Given the description of an element on the screen output the (x, y) to click on. 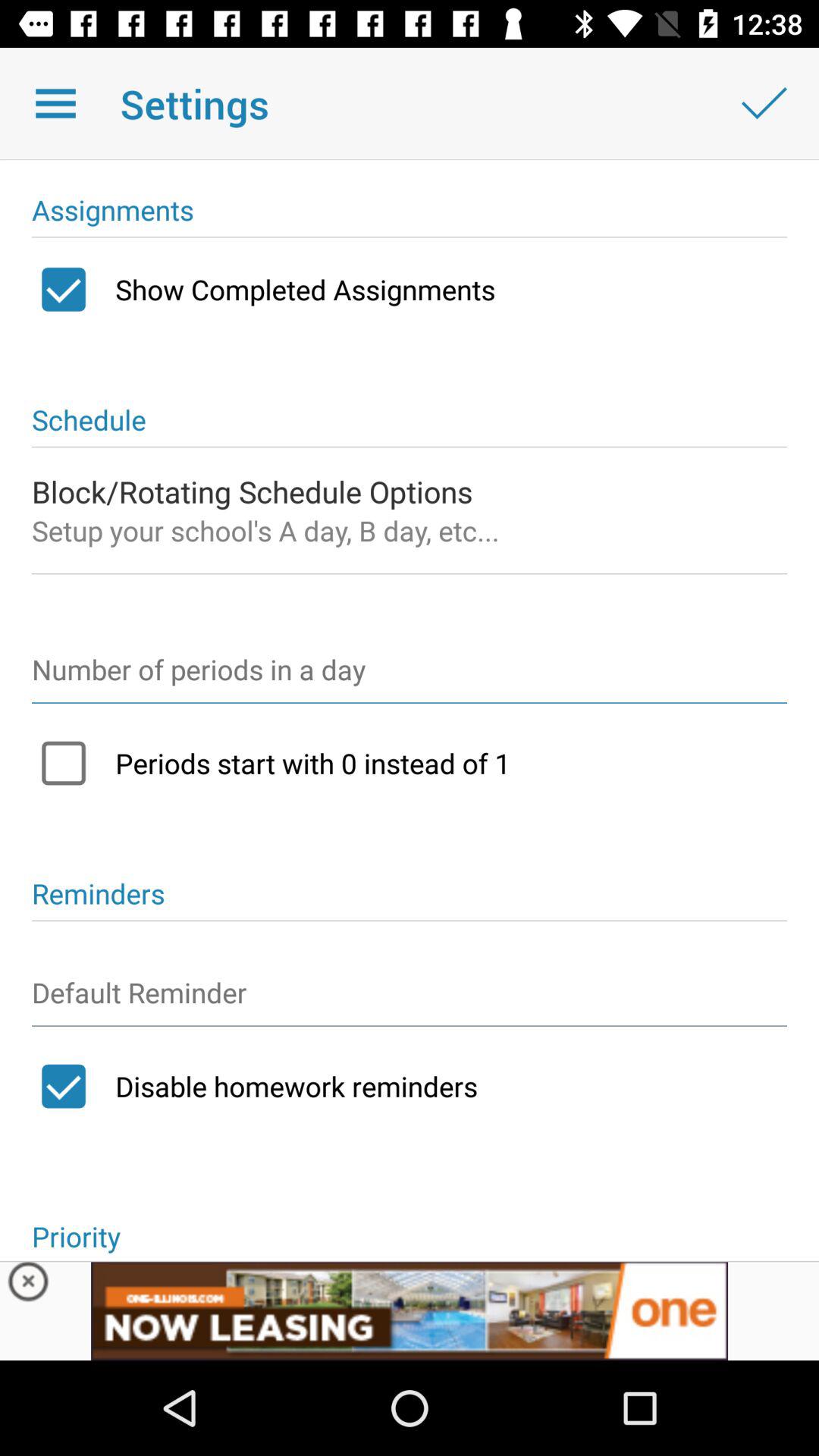
enter number of periods in a day (409, 676)
